Given the description of an element on the screen output the (x, y) to click on. 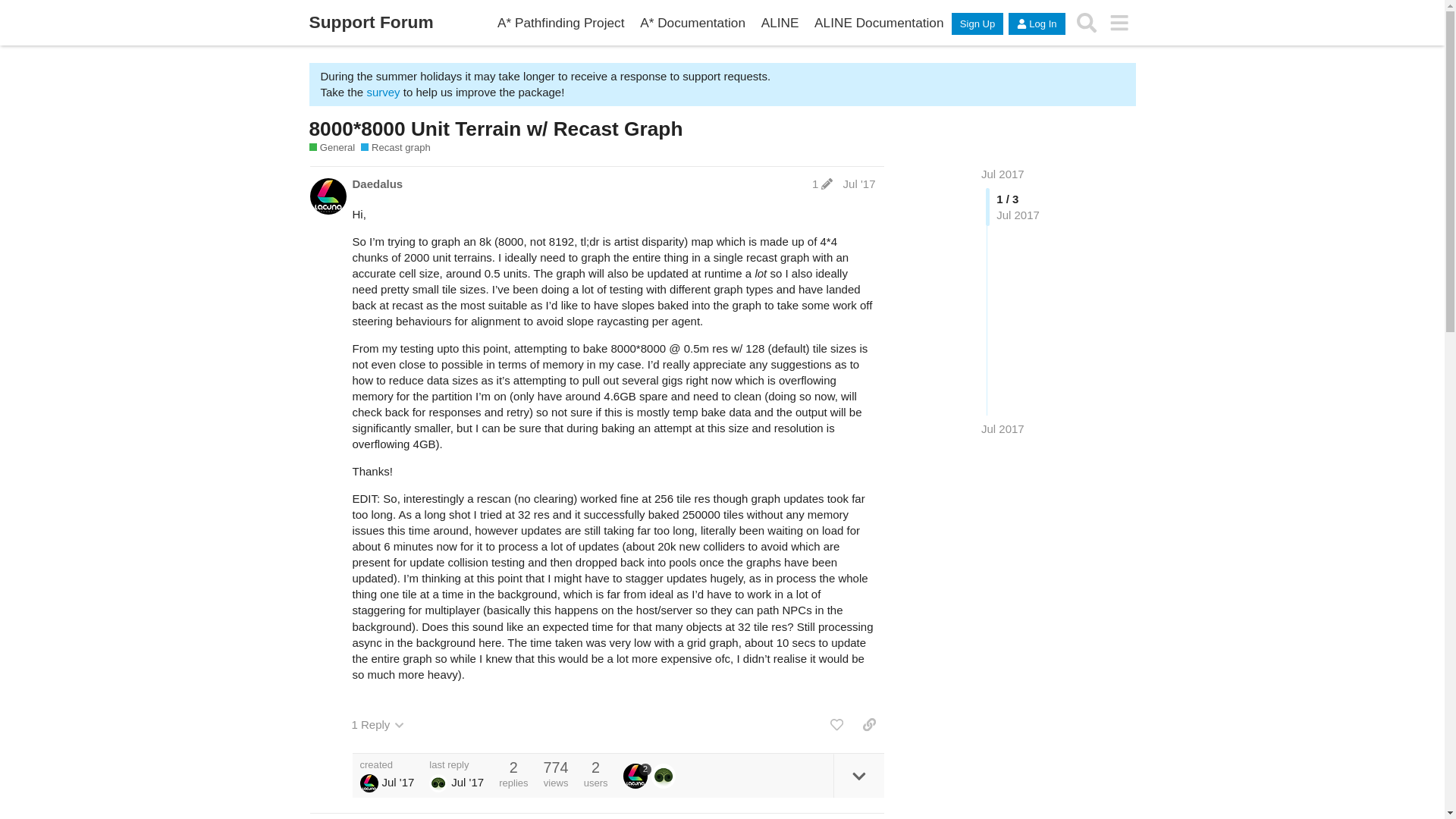
Daedalus (377, 183)
1 (822, 183)
survey (382, 91)
ALINE Documentation (879, 22)
Recast graph (395, 147)
Support Forum (370, 22)
Log In (1036, 24)
ALINE (779, 22)
expand topic details (857, 775)
ALINE Documentation (879, 22)
Post date (859, 183)
2 (636, 775)
menu (1119, 22)
Jul '17 (859, 183)
Search (1086, 22)
